Given the description of an element on the screen output the (x, y) to click on. 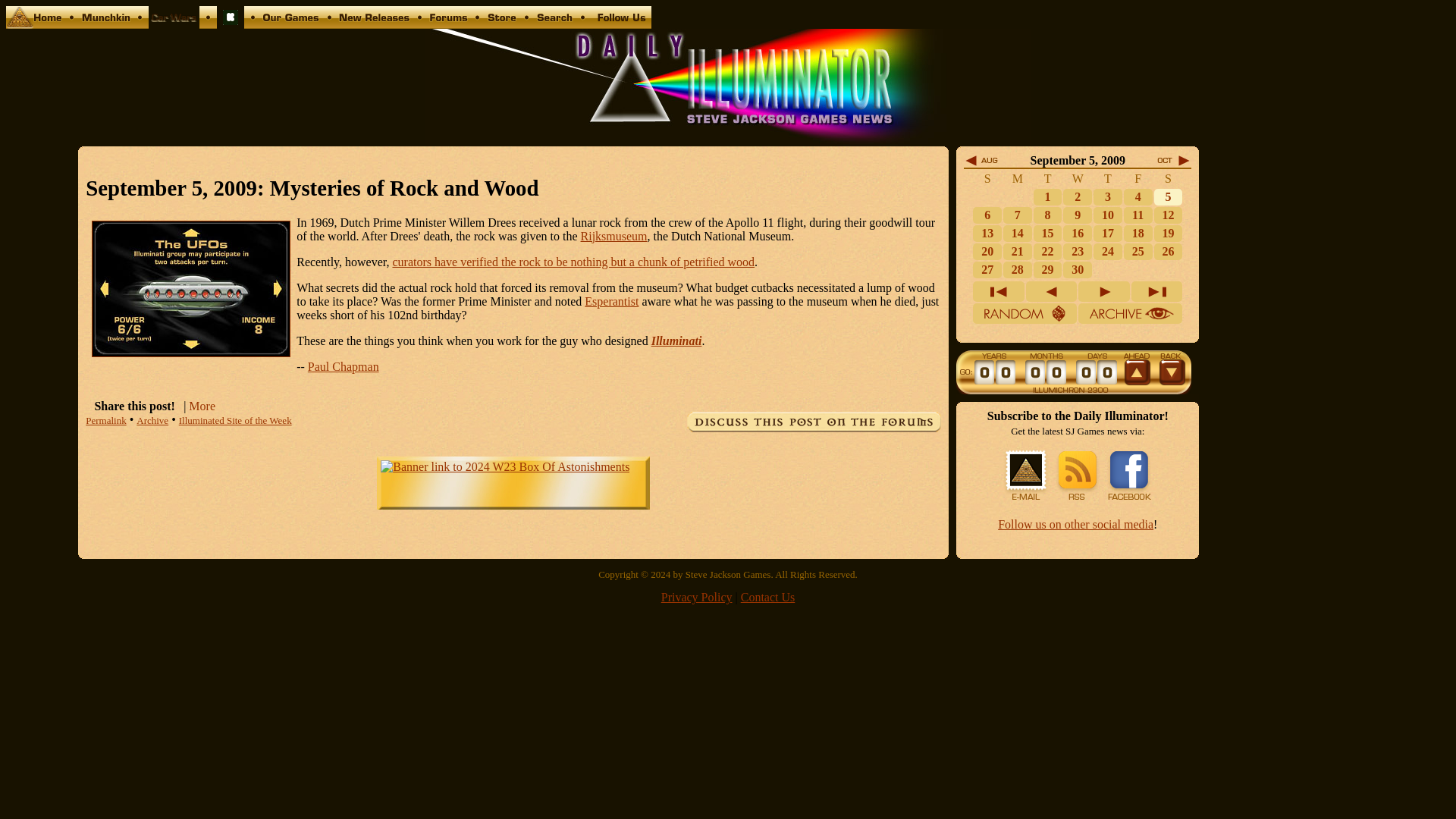
Illuminated Site of the Week (235, 419)
Forums (448, 24)
Rijksmuseum (613, 236)
5 (1167, 196)
1 (1048, 196)
Hexagram 13 - An Old School Zine for The Fantasy Trip RPG (230, 24)
7 (1017, 214)
Contact Us (620, 24)
2 (1077, 196)
